Given the description of an element on the screen output the (x, y) to click on. 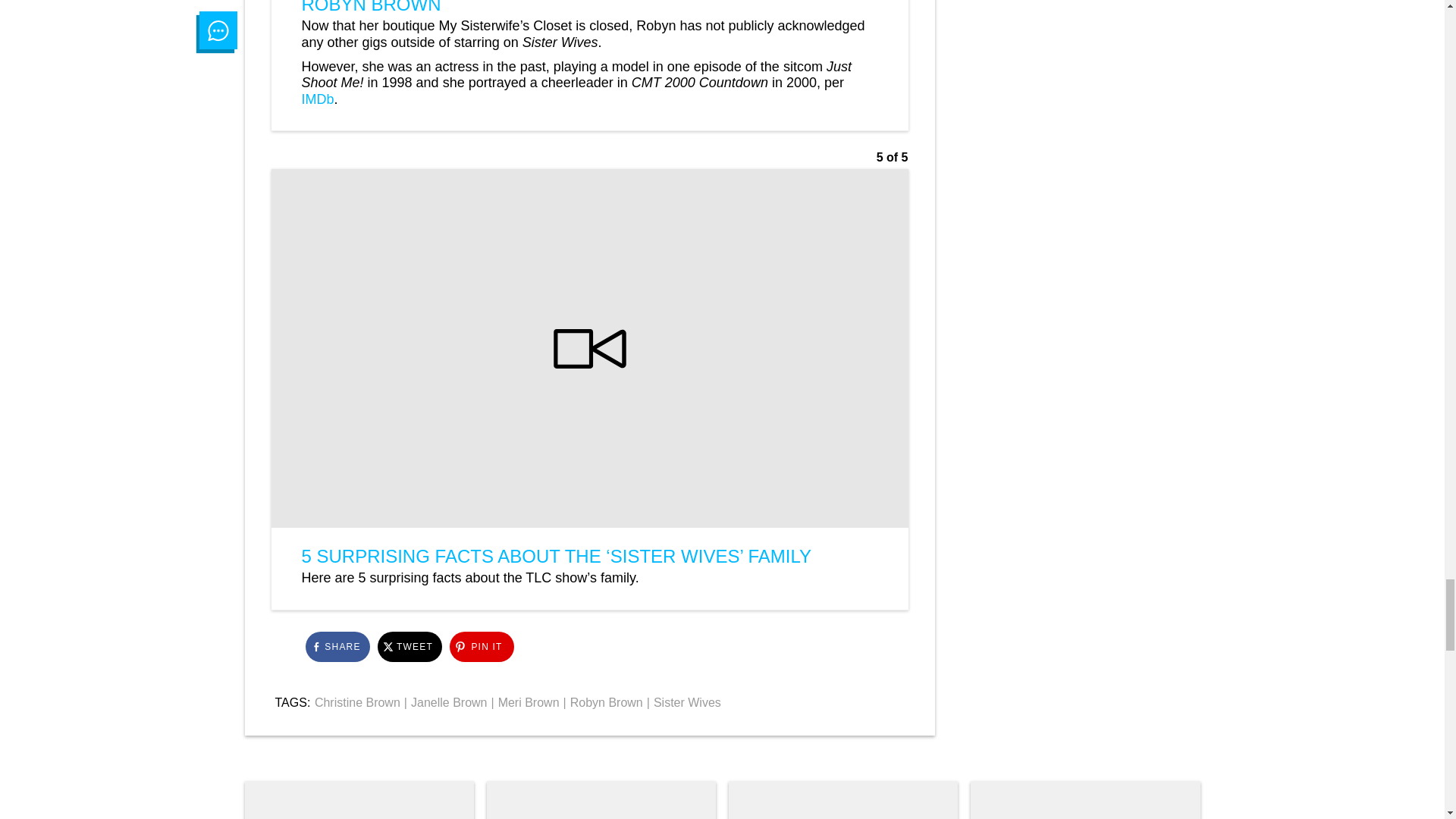
Click to share on Pinterest (480, 646)
Click to share on Facebook (336, 646)
Click to share on Twitter (409, 646)
